Given the description of an element on the screen output the (x, y) to click on. 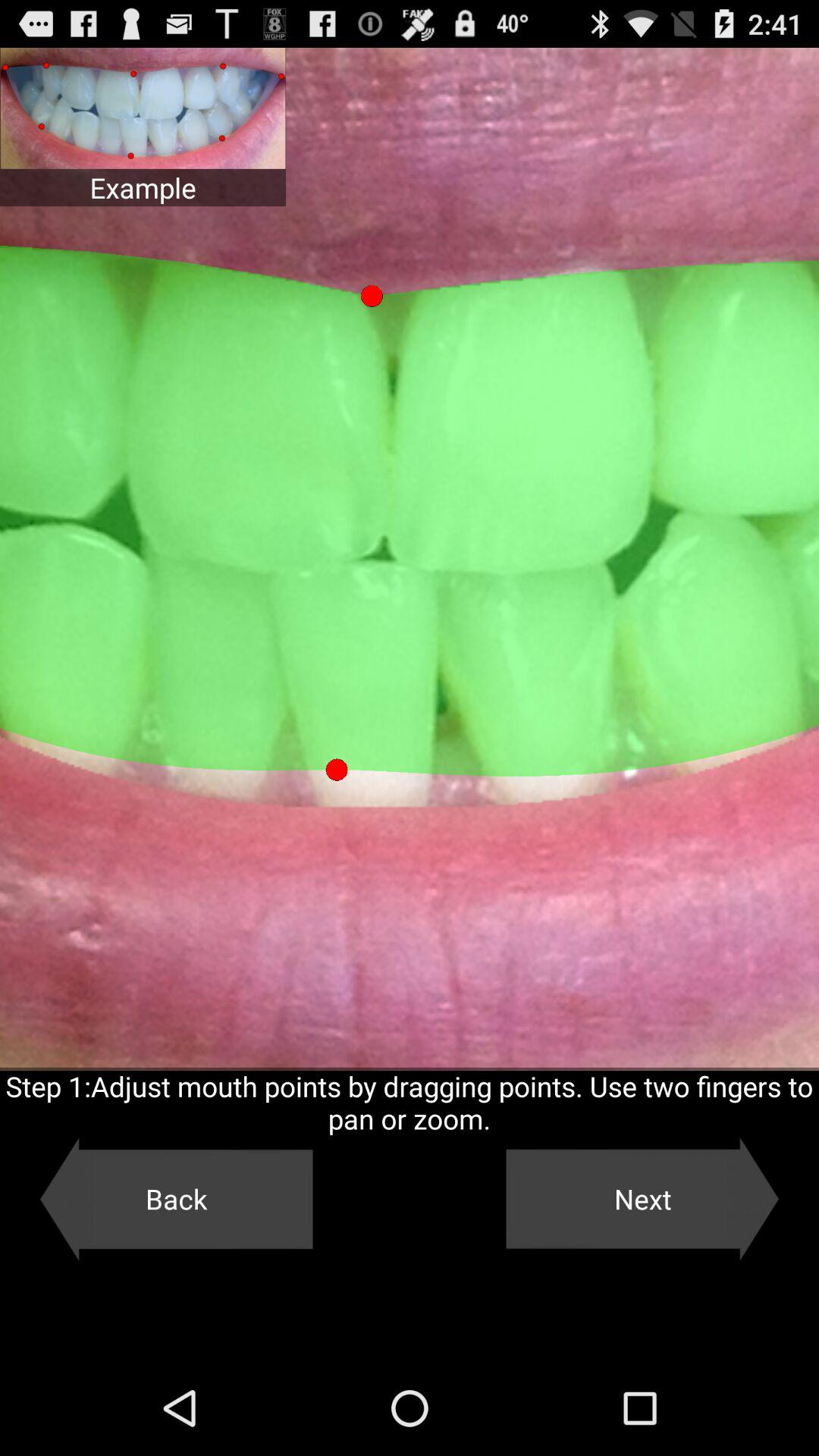
jump until next button (642, 1198)
